Given the description of an element on the screen output the (x, y) to click on. 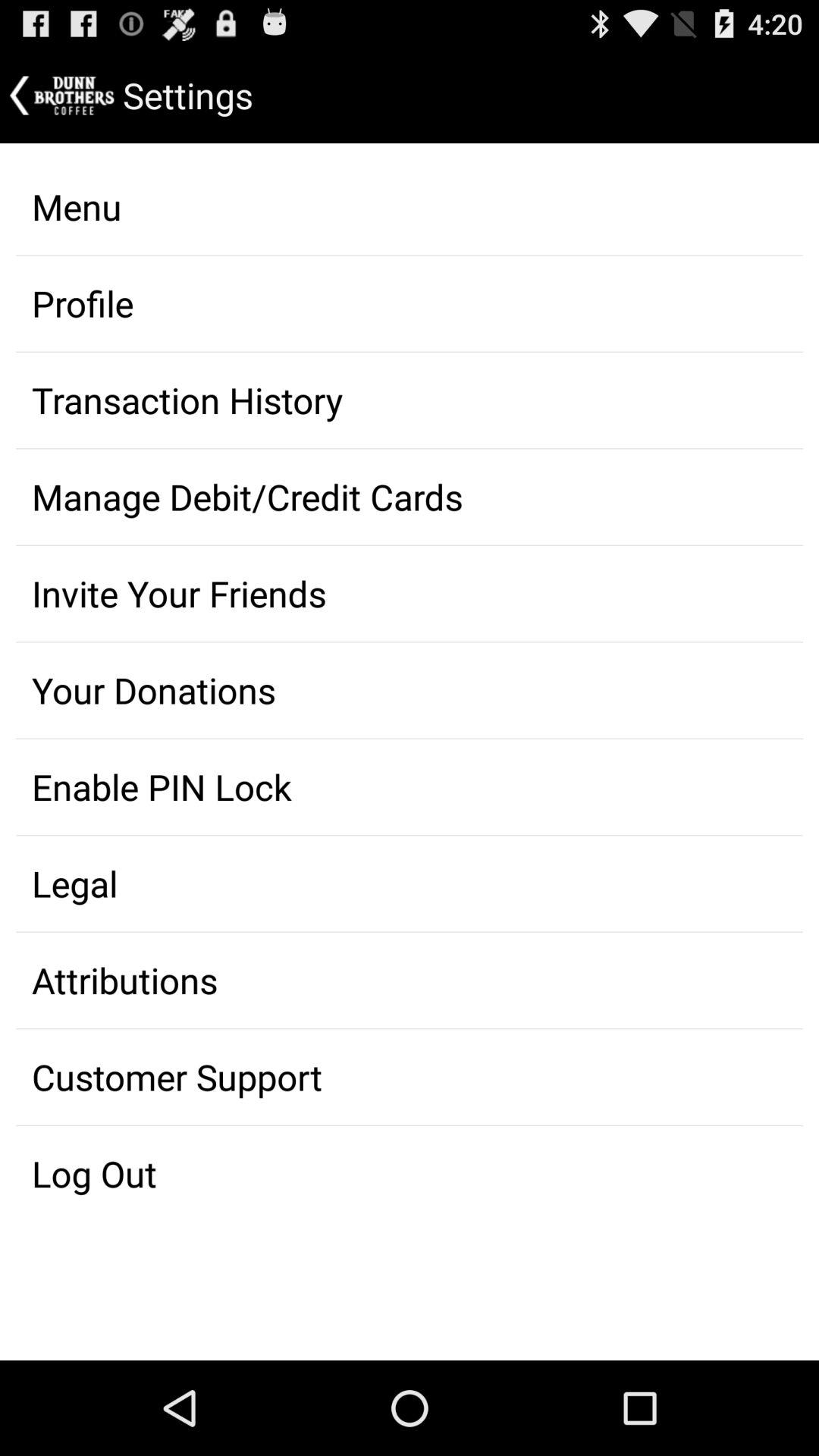
press enable pin lock item (409, 786)
